Given the description of an element on the screen output the (x, y) to click on. 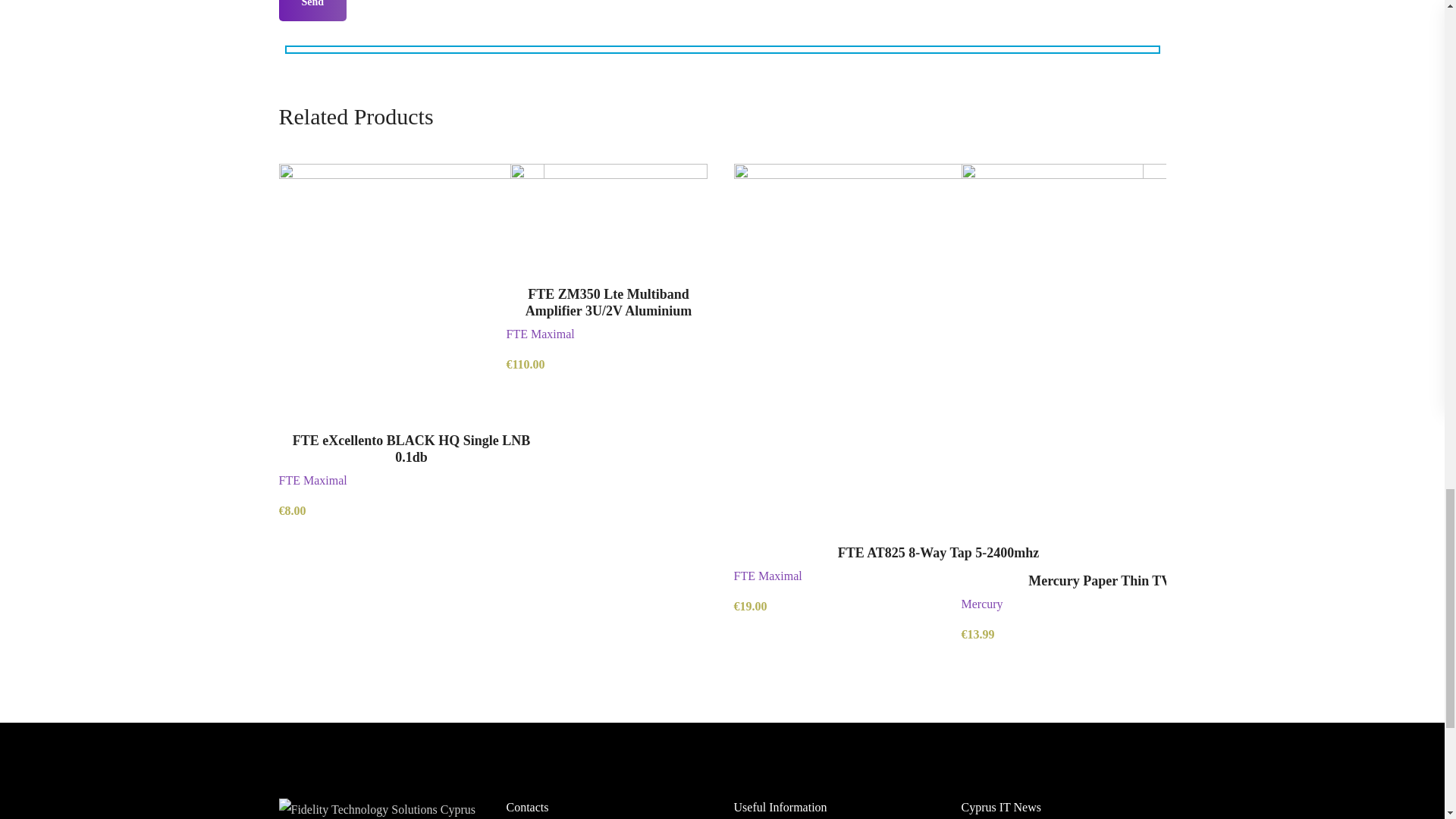
Send (313, 10)
